Given the description of an element on the screen output the (x, y) to click on. 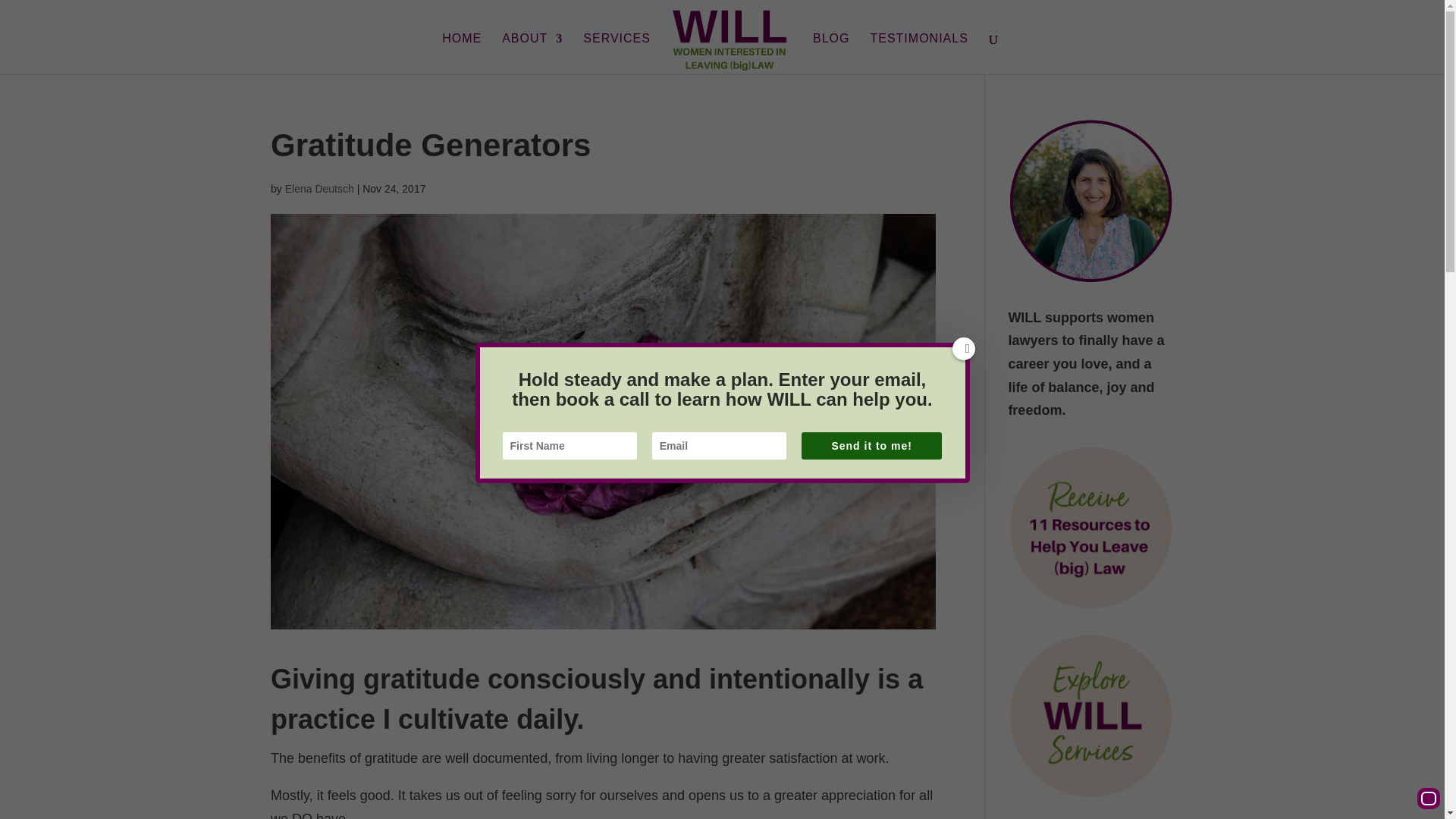
ABOUT (532, 54)
Posts by Elena Deutsch (319, 188)
SERVICES (616, 54)
HOME (461, 54)
Accessibility Menu (1427, 798)
TESTIMONIALS (918, 54)
Elena Deutsch (319, 188)
